Given the description of an element on the screen output the (x, y) to click on. 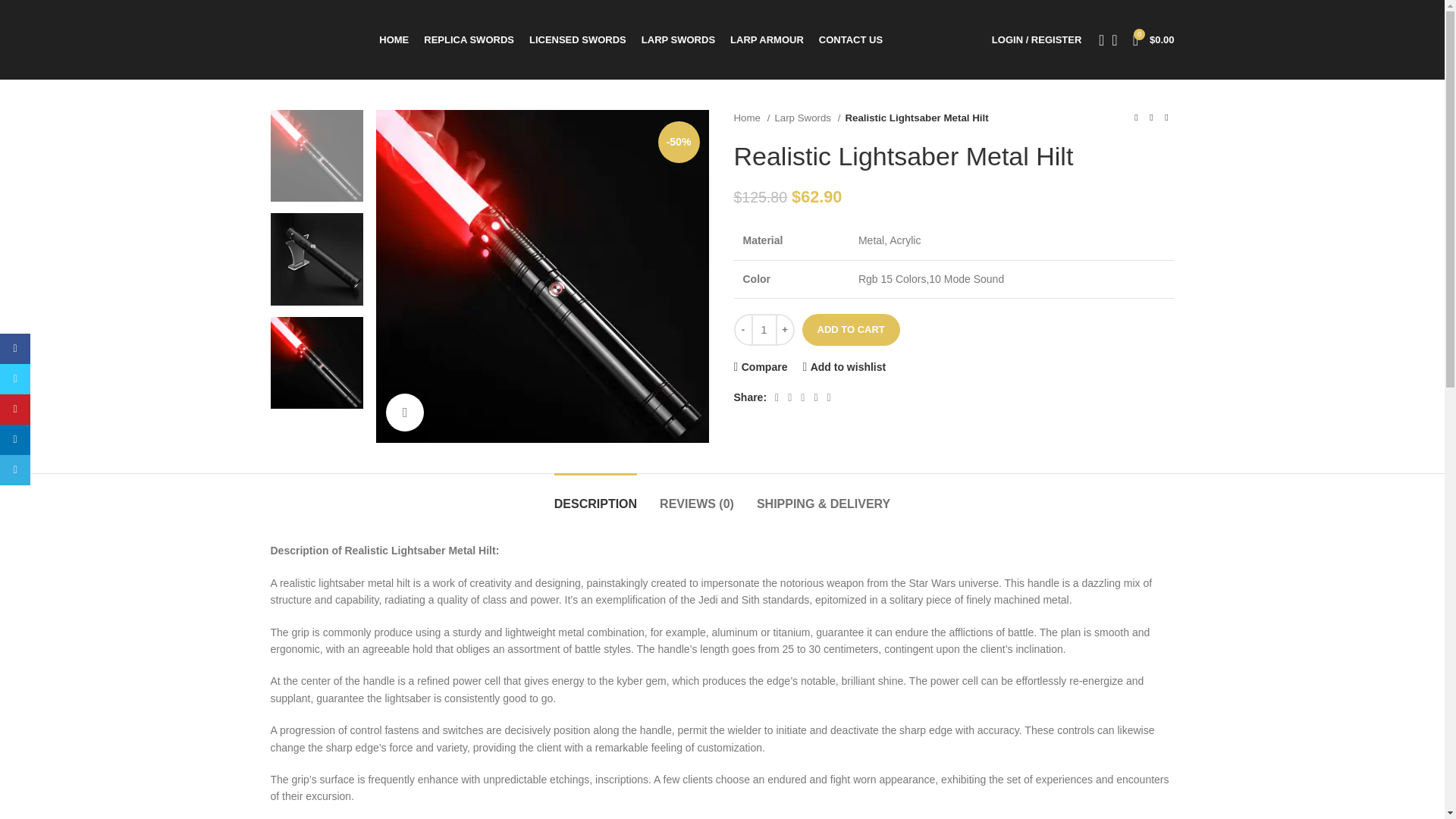
LARP ARMOUR (766, 39)
DESCRIPTION (595, 496)
REPLICA SWORDS (468, 39)
Shopping cart (1153, 39)
LICENSED SWORDS (577, 39)
My account (1036, 39)
Realistic Lightsaber Metal Hilt (542, 276)
Larp Swords (807, 117)
ADD TO CART (850, 329)
Add to wishlist (843, 366)
CONTACT US (850, 39)
LARP SWORDS (678, 39)
Compare (760, 366)
HOME (393, 39)
Home (751, 117)
